Given the description of an element on the screen output the (x, y) to click on. 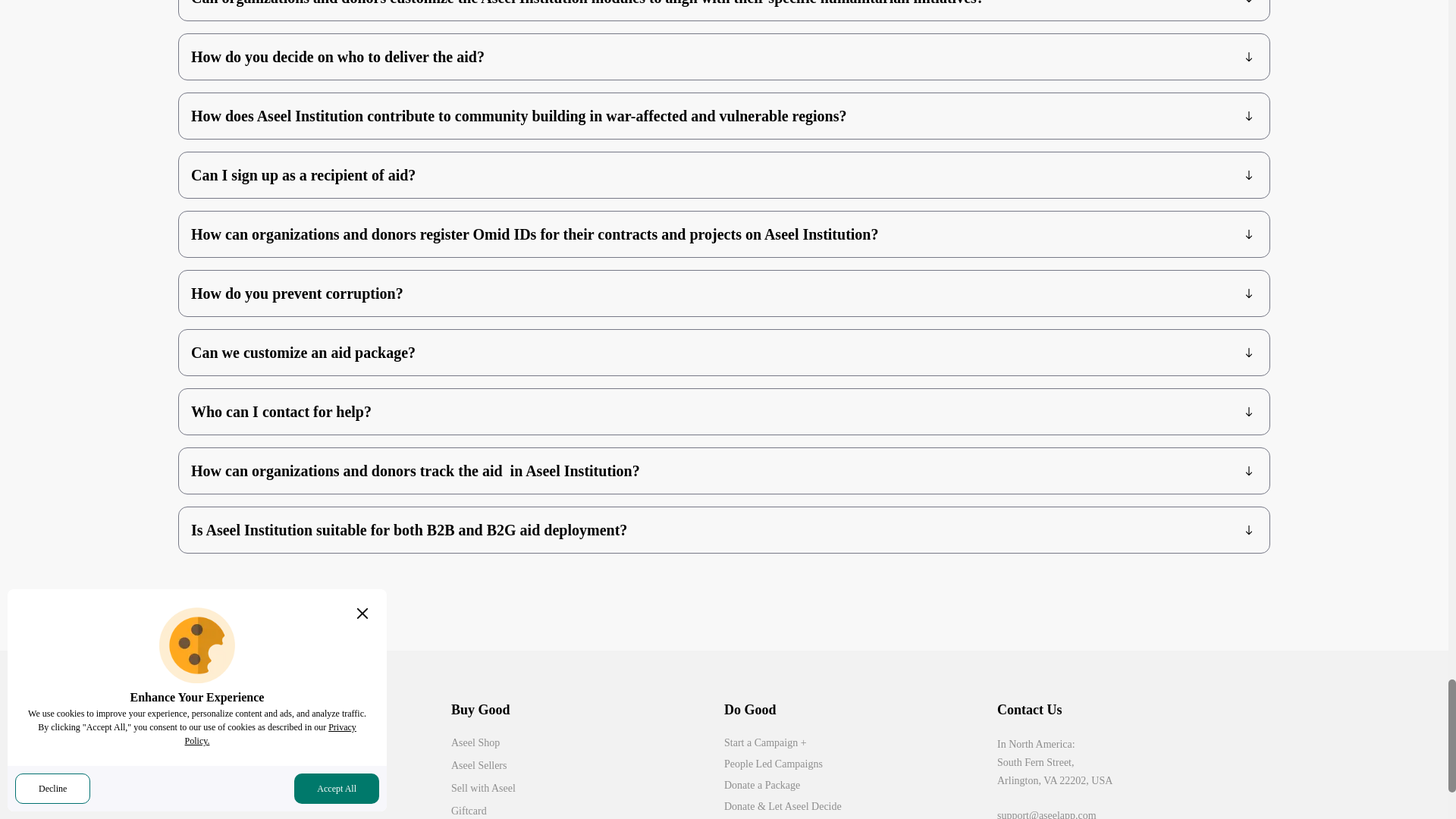
Aseel Institution (314, 785)
Who can I contact for help? (724, 411)
How do you decide on who to deliver the aid? (724, 56)
How do you prevent corruption? (724, 293)
Newsroom (314, 764)
Can we customize an aid package?  (724, 352)
